Given the description of an element on the screen output the (x, y) to click on. 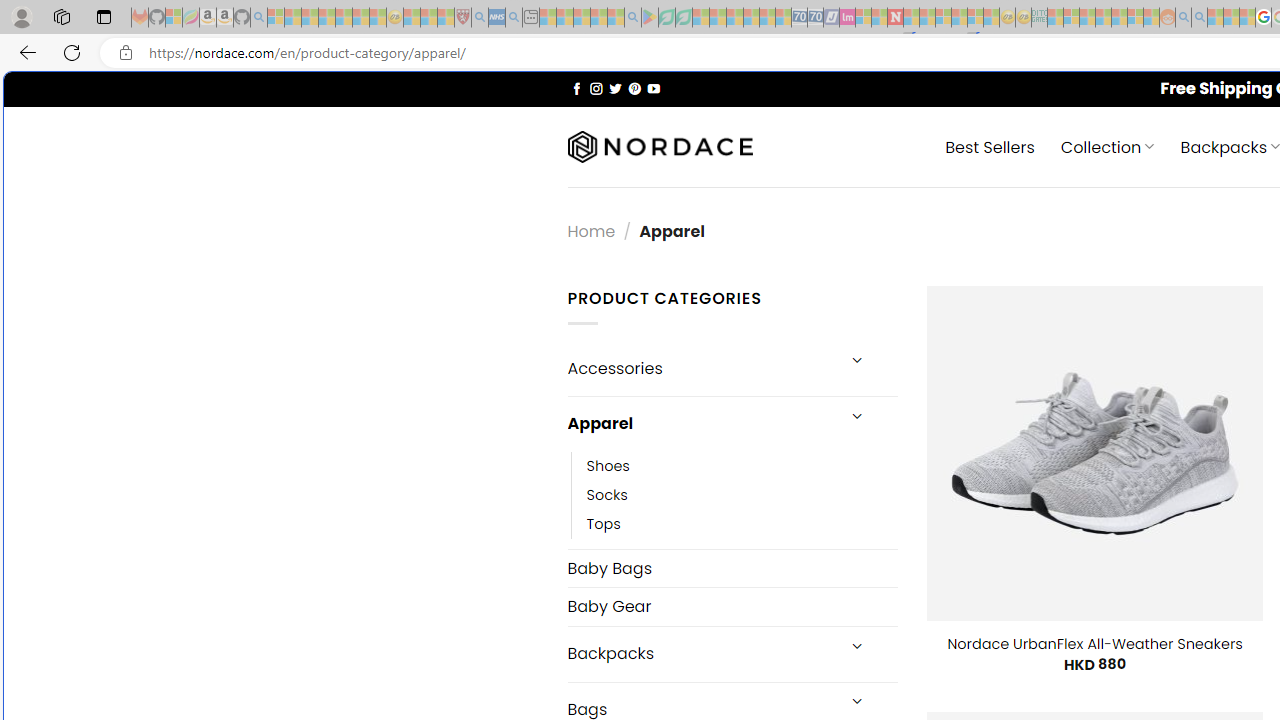
Pets - MSN - Sleeping (598, 17)
Tops (603, 524)
  Best Sellers (989, 146)
Bluey: Let's Play! - Apps on Google Play - Sleeping (649, 17)
Shoes (607, 465)
Baby Gear (732, 605)
Baby Bags (732, 568)
Shoes (742, 465)
